Given the description of an element on the screen output the (x, y) to click on. 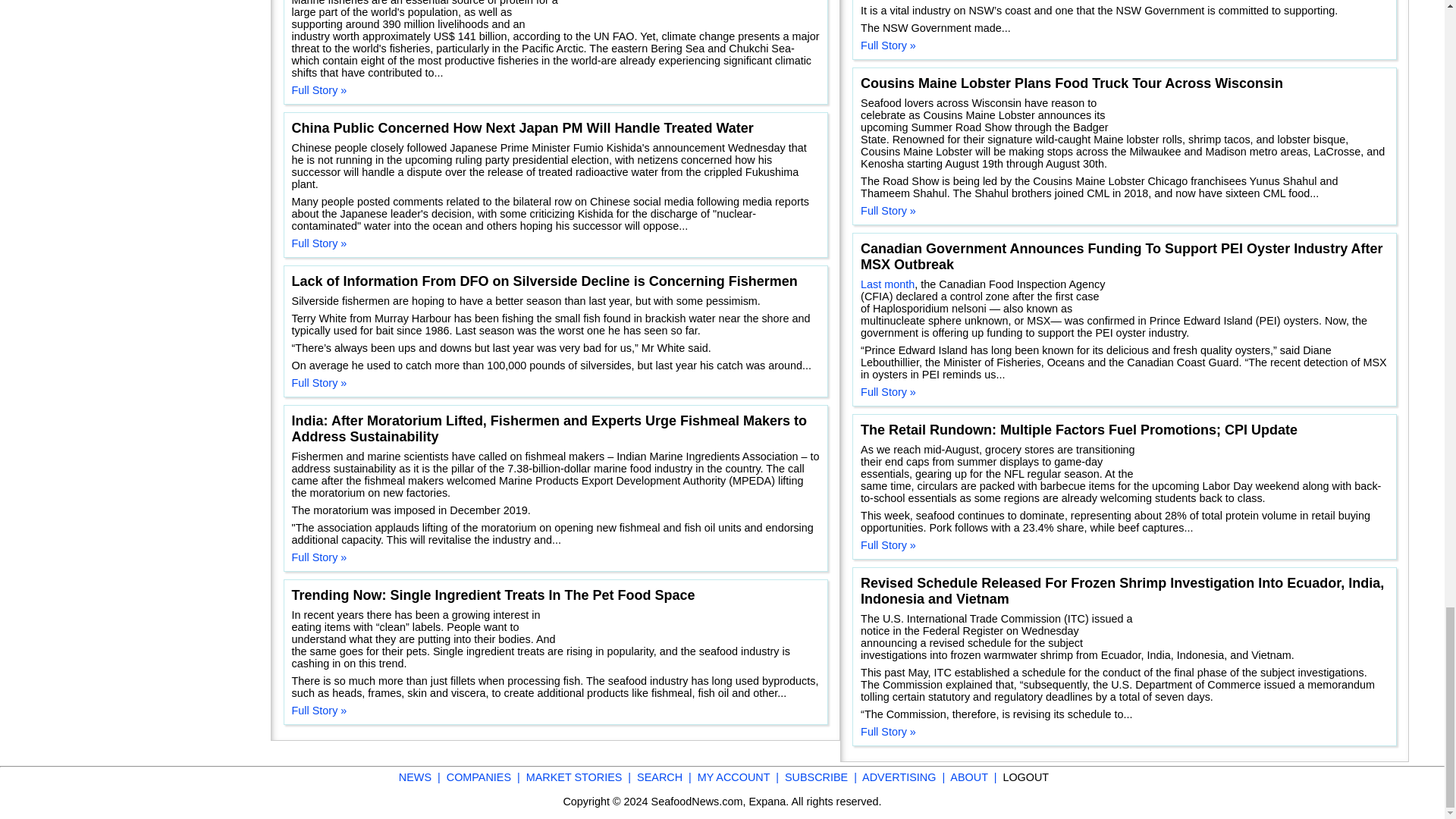
Market Story (73, 179)
Market Story (126, 498)
Market Story (105, 443)
